Given the description of an element on the screen output the (x, y) to click on. 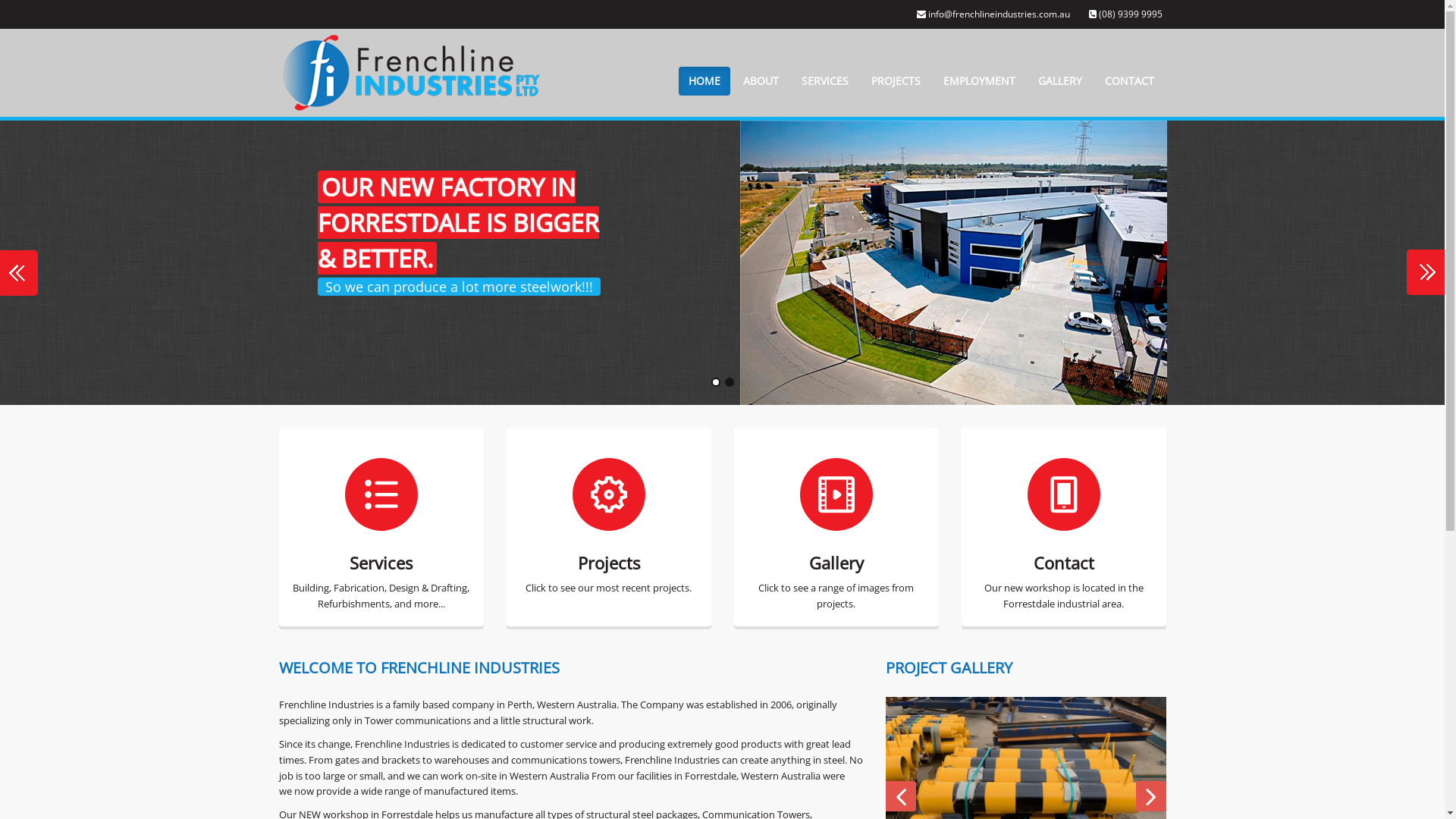
Gallery Element type: text (836, 494)
HOME Element type: text (703, 80)
Projects Element type: text (608, 494)
EMPLOYMENT Element type: text (978, 80)
CONTACT Element type: text (1129, 80)
info@frenchlineindustries.com.au Element type: text (993, 13)
ABOUT Element type: text (759, 80)
(08) 9399 9995 Element type: text (1125, 13)
GALLERY Element type: text (1060, 80)
SERVICES Element type: text (824, 80)
Contact Element type: text (1063, 494)
Services Element type: text (381, 494)
PROJECTS Element type: text (895, 80)
